Given the description of an element on the screen output the (x, y) to click on. 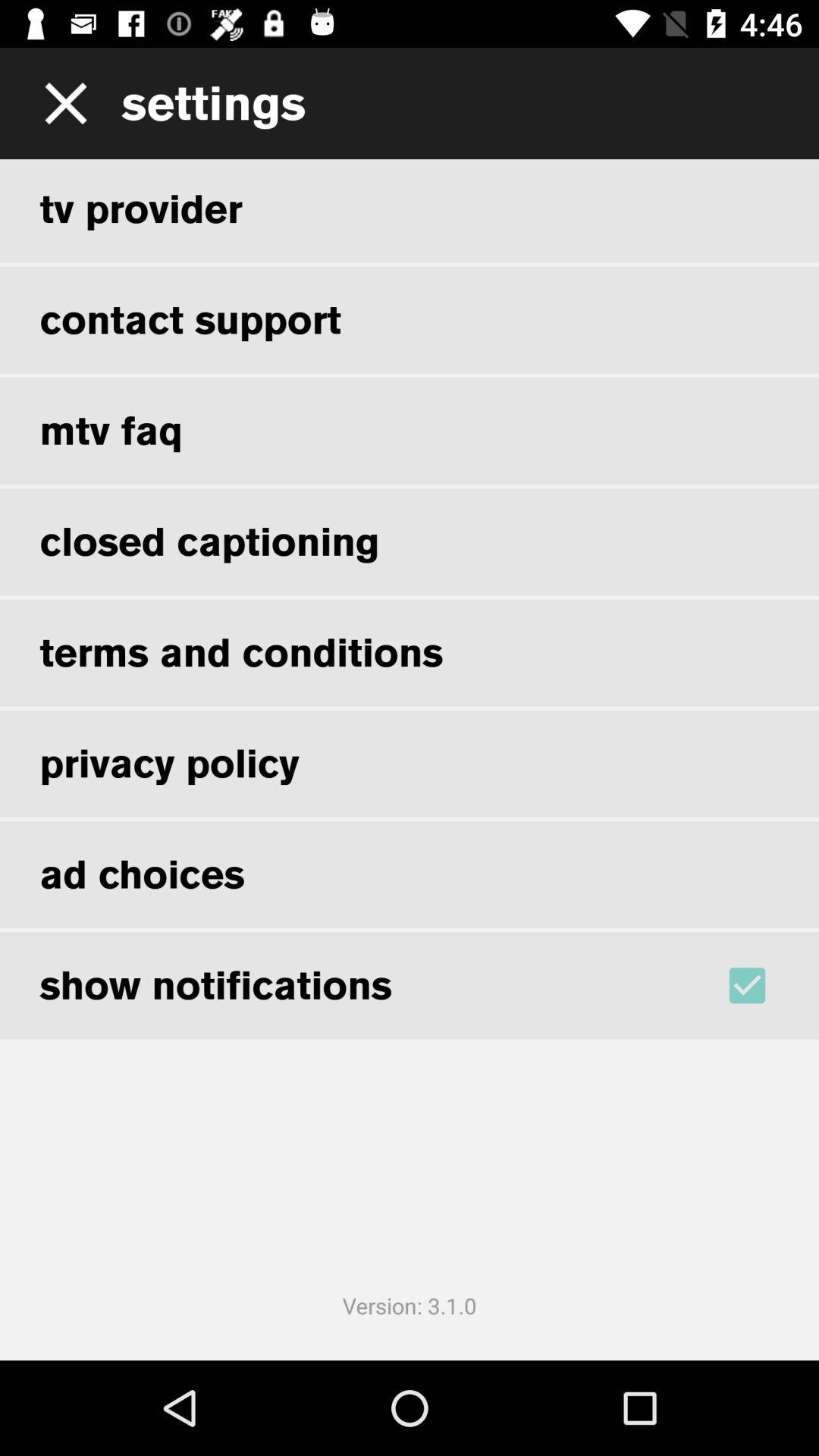
click the icon above version 3 1 item (767, 985)
